Given the description of an element on the screen output the (x, y) to click on. 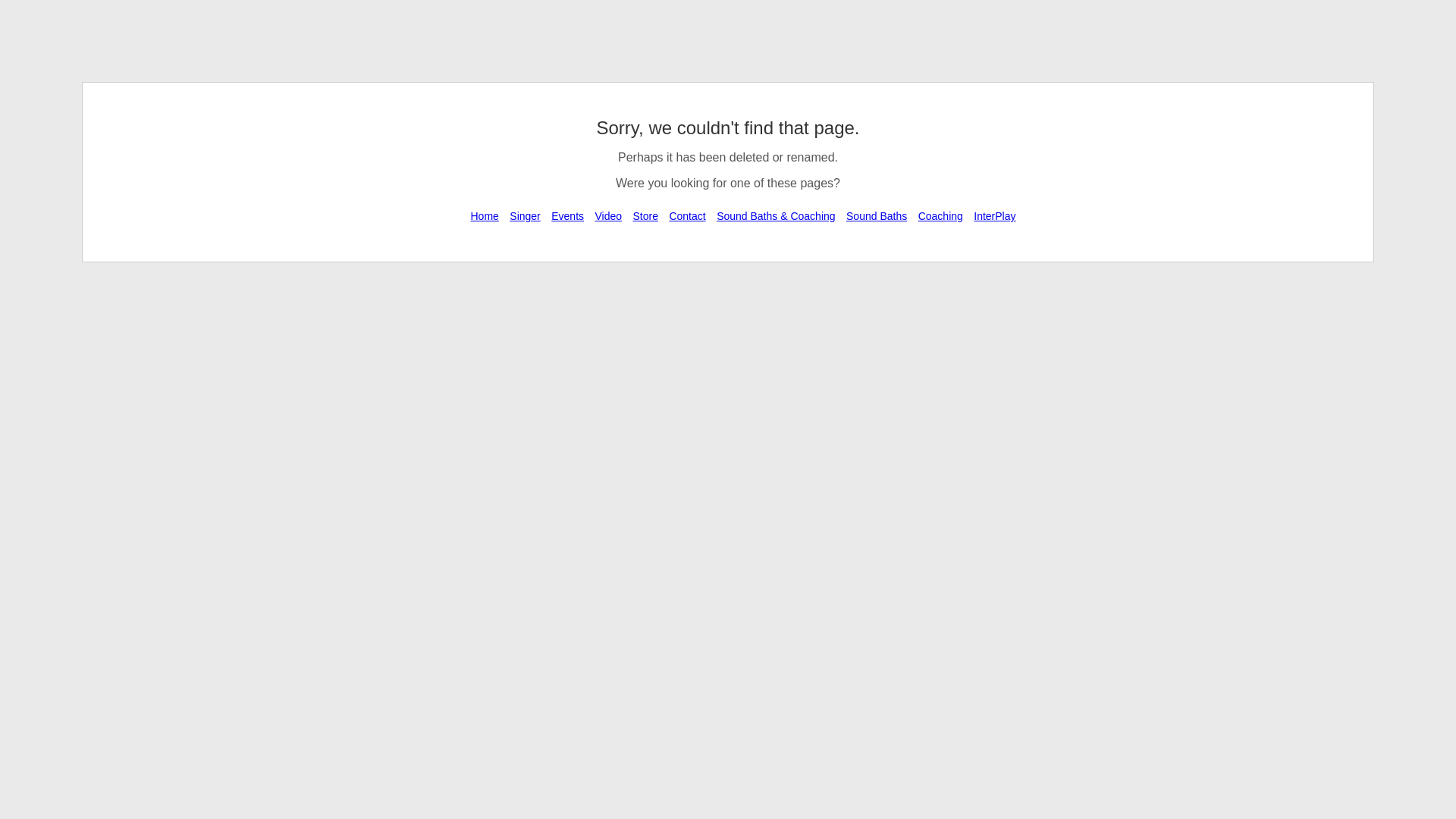
Sound Baths Element type: text (876, 216)
Singer Element type: text (524, 216)
Events Element type: text (567, 216)
Contact Element type: text (687, 216)
InterPlay Element type: text (994, 216)
Store Element type: text (645, 216)
Video Element type: text (607, 216)
Sound Baths & Coaching Element type: text (775, 216)
Coaching Element type: text (940, 216)
Home Element type: text (484, 216)
